Given the description of an element on the screen output the (x, y) to click on. 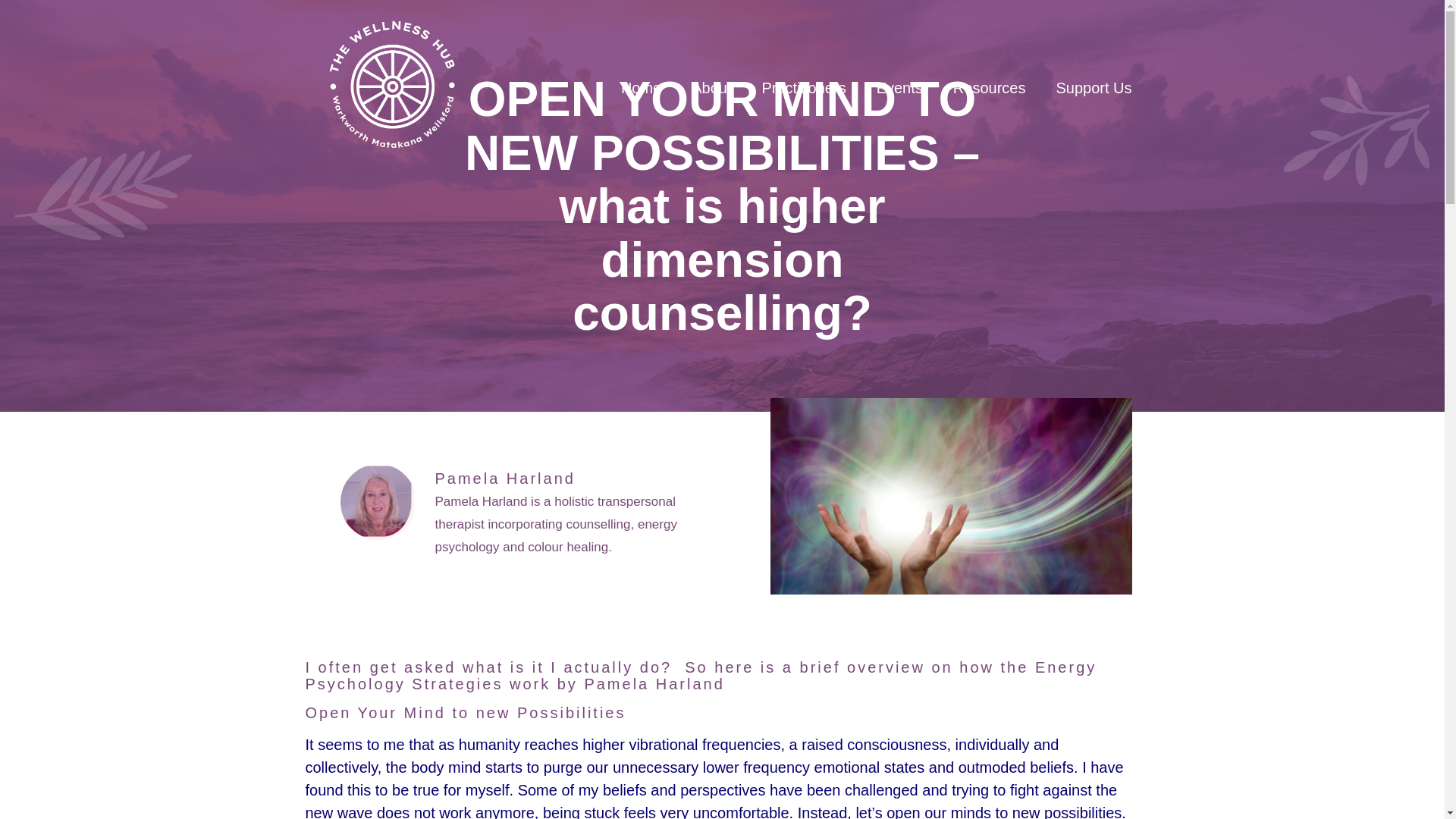
About (711, 87)
Events (899, 87)
Support Us (1094, 87)
Practitioners (802, 87)
Home (641, 87)
Resources (989, 87)
